Given the description of an element on the screen output the (x, y) to click on. 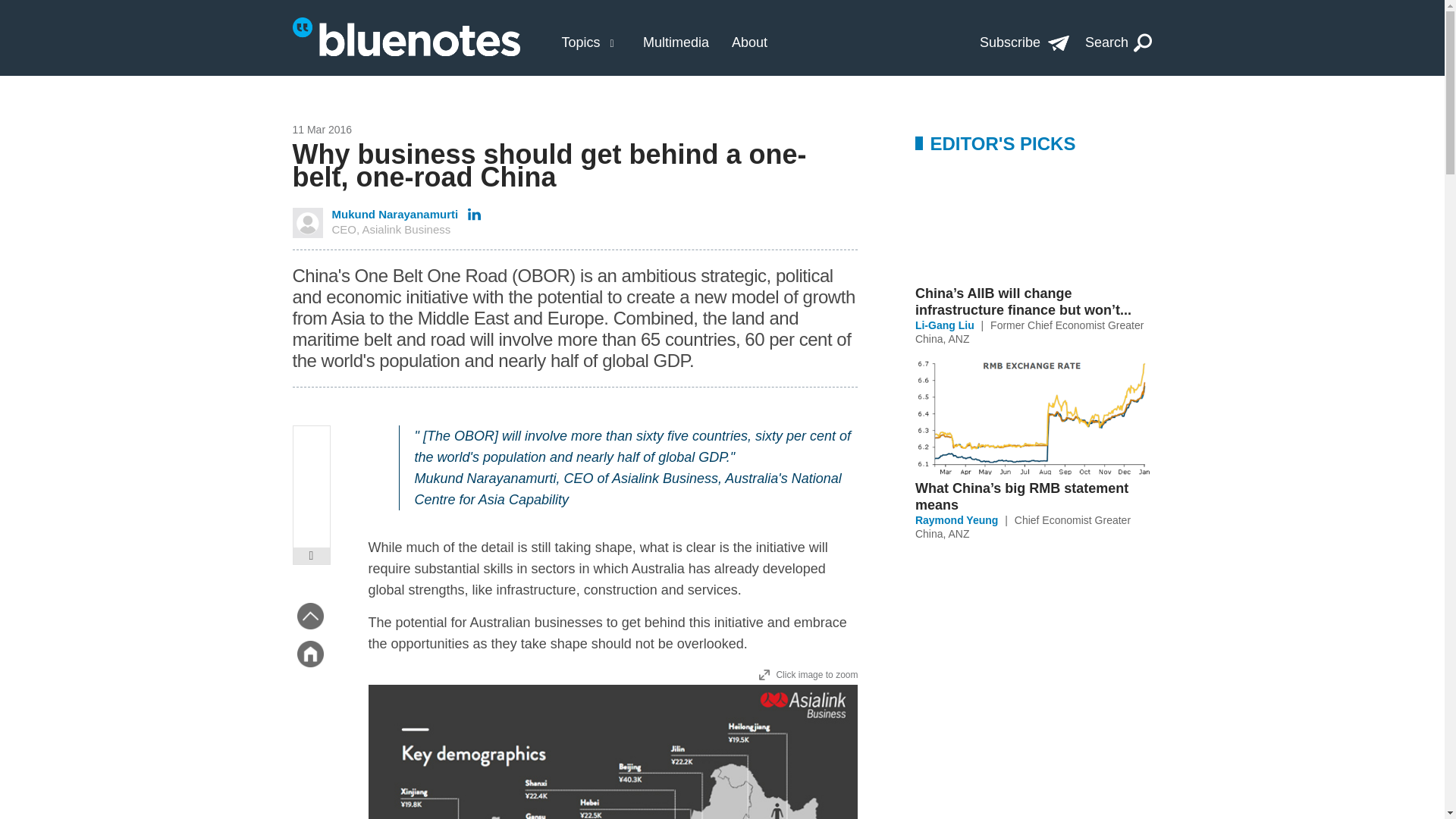
Topics (579, 42)
Multimedia (676, 42)
Subscribe (1023, 42)
Search (1118, 42)
About (1023, 526)
